Given the description of an element on the screen output the (x, y) to click on. 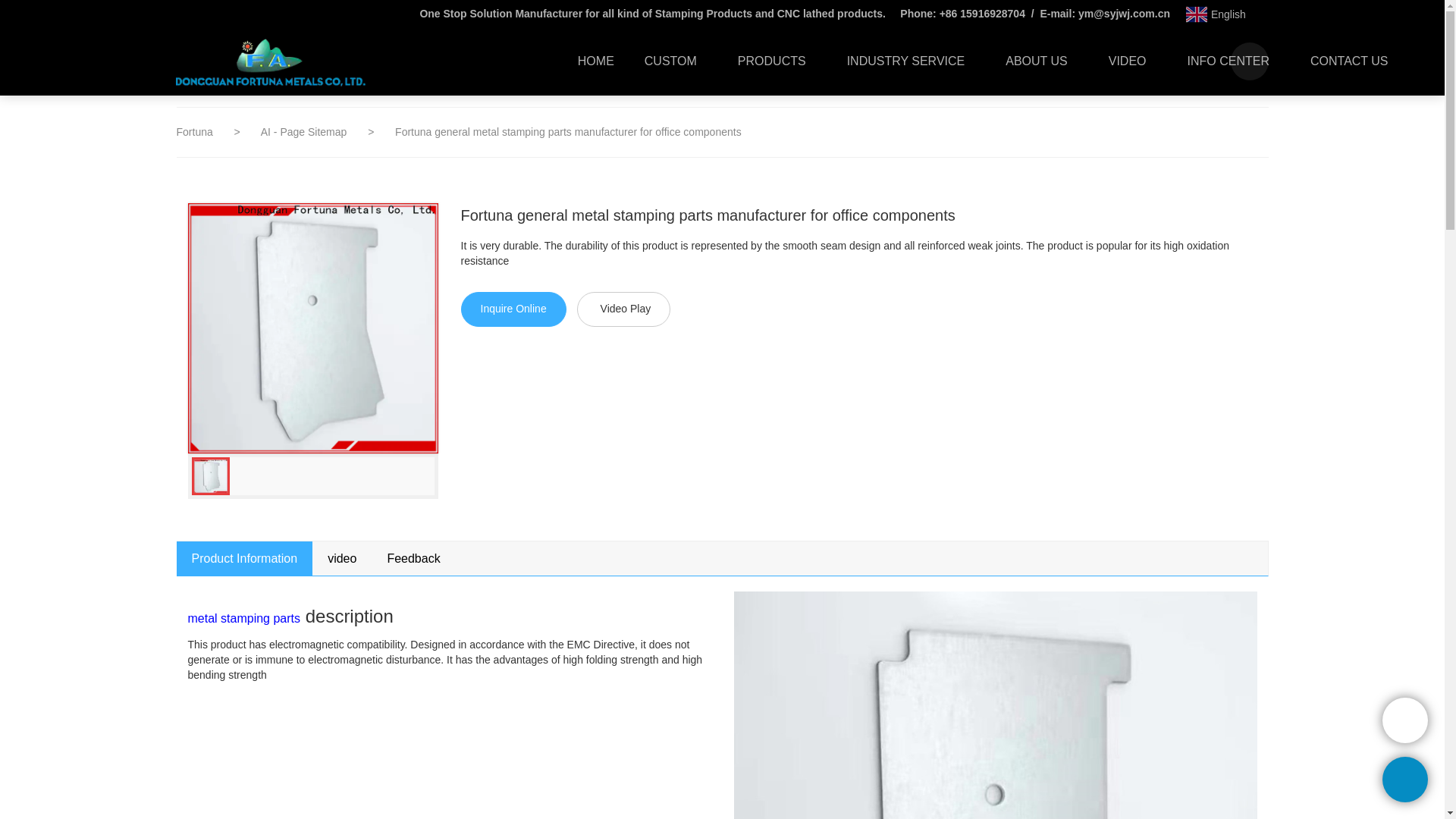
HOME (595, 61)
CUSTOM (675, 61)
PRODUCTS (776, 61)
